Given the description of an element on the screen output the (x, y) to click on. 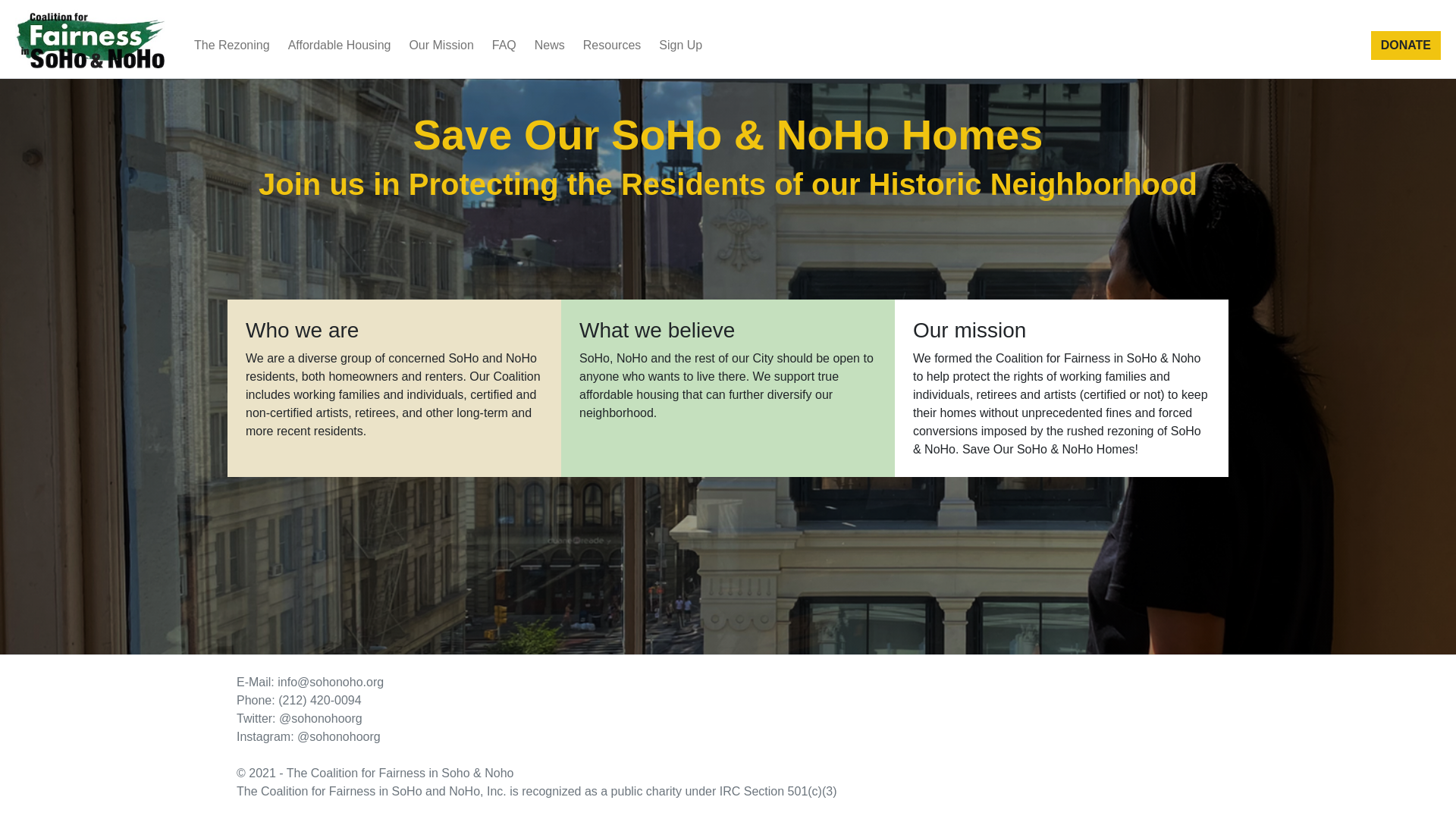
Sign Up (679, 45)
Resources (611, 45)
Our Mission (441, 45)
Affordable Housing (339, 45)
News (549, 45)
DONATE (1406, 45)
The Rezoning (231, 45)
FAQ (504, 45)
